Given the description of an element on the screen output the (x, y) to click on. 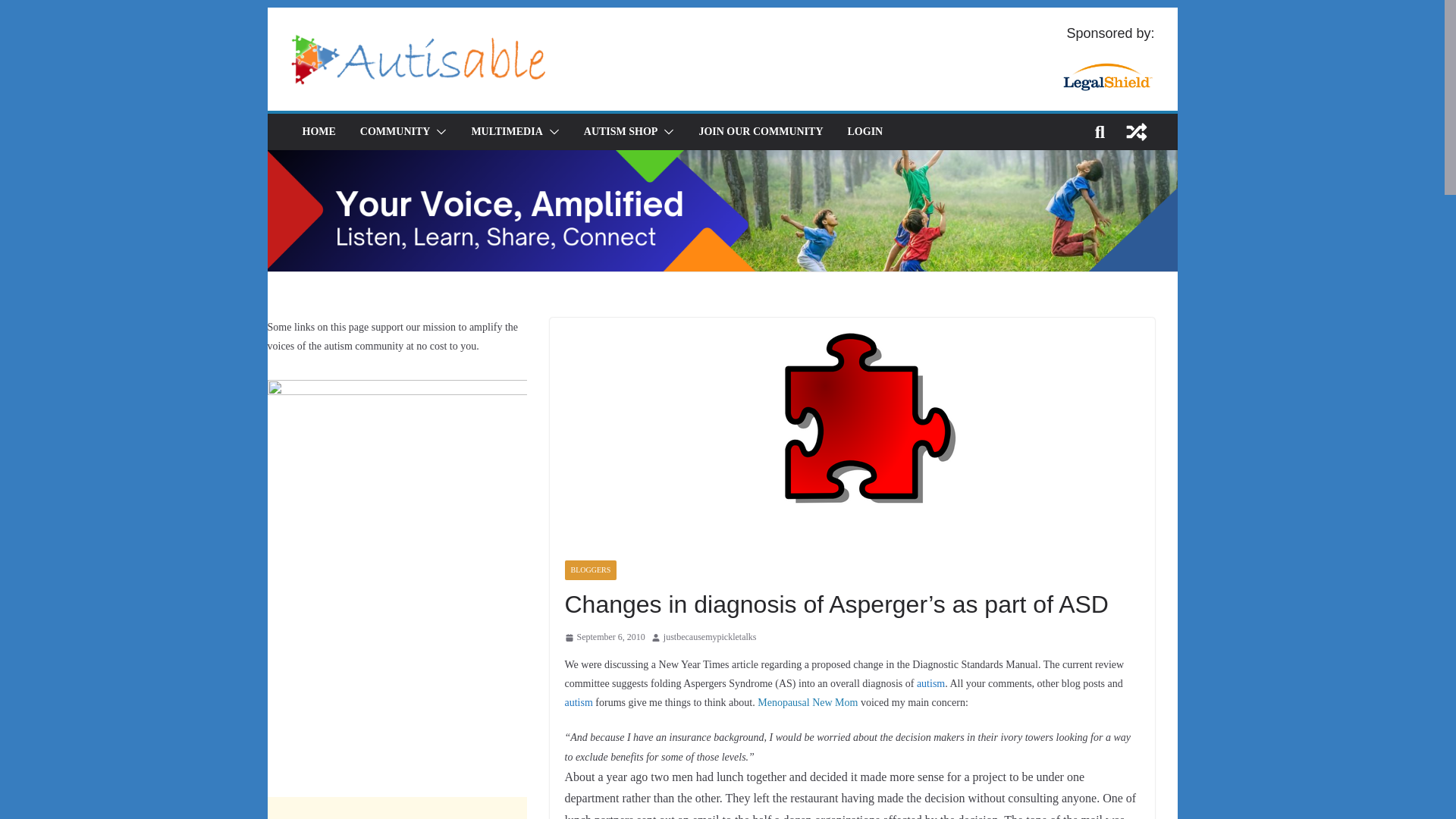
justbecausemypickletalks (710, 637)
HOME (317, 131)
LOGIN (865, 131)
COMMUNITY (394, 131)
Autism and Adolescence (930, 683)
Menopausal New Mom (807, 702)
2:00 pm (604, 637)
Autism and Adolescence (578, 702)
MULTIMEDIA (505, 131)
justbecausemypickletalks (710, 637)
AUTISM SHOP (620, 131)
BLOGGERS (589, 569)
View a random post (1136, 131)
autism (930, 683)
